Given the description of an element on the screen output the (x, y) to click on. 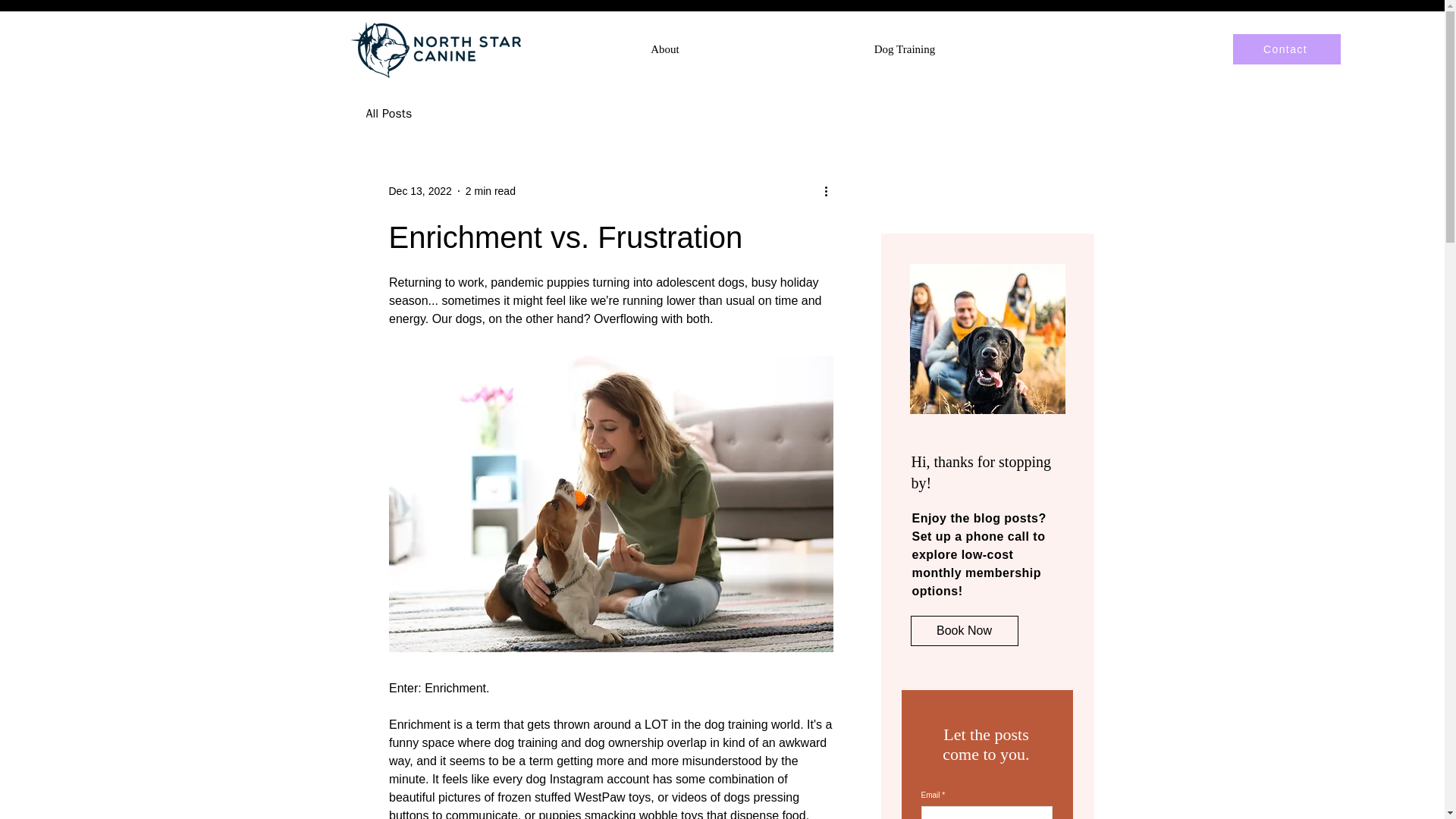
About (664, 48)
Contact (1286, 49)
All Posts (388, 114)
Dec 13, 2022 (419, 191)
Book Now (963, 630)
2 min read (490, 191)
